Given the description of an element on the screen output the (x, y) to click on. 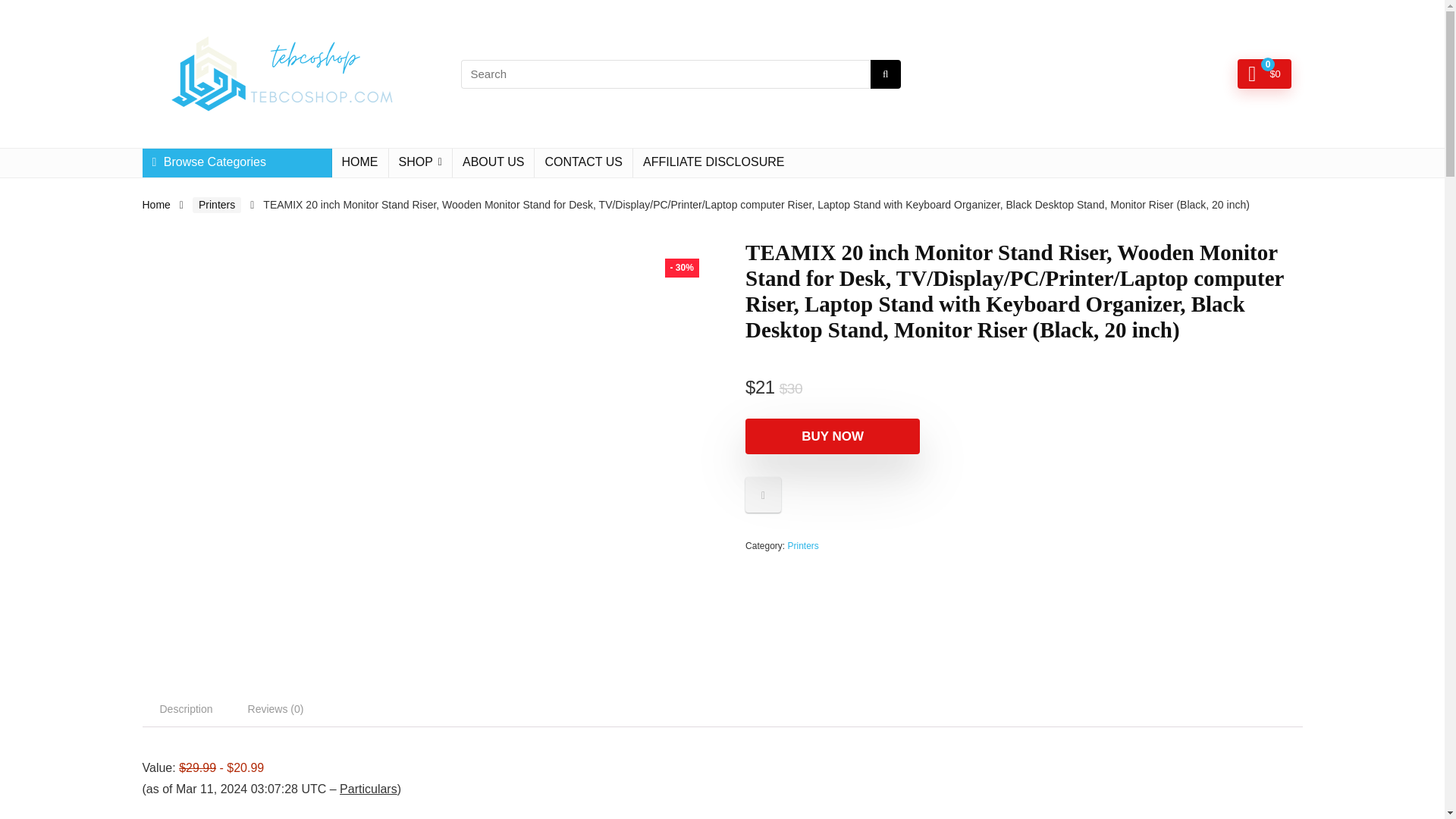
BUY NOW (832, 436)
Browse Categories (236, 162)
Printers (802, 545)
Description (186, 709)
HOME (359, 162)
SHOP (419, 162)
Home (156, 204)
Printers (216, 204)
AFFILIATE DISCLOSURE (713, 162)
CONTACT US (582, 162)
